Given the description of an element on the screen output the (x, y) to click on. 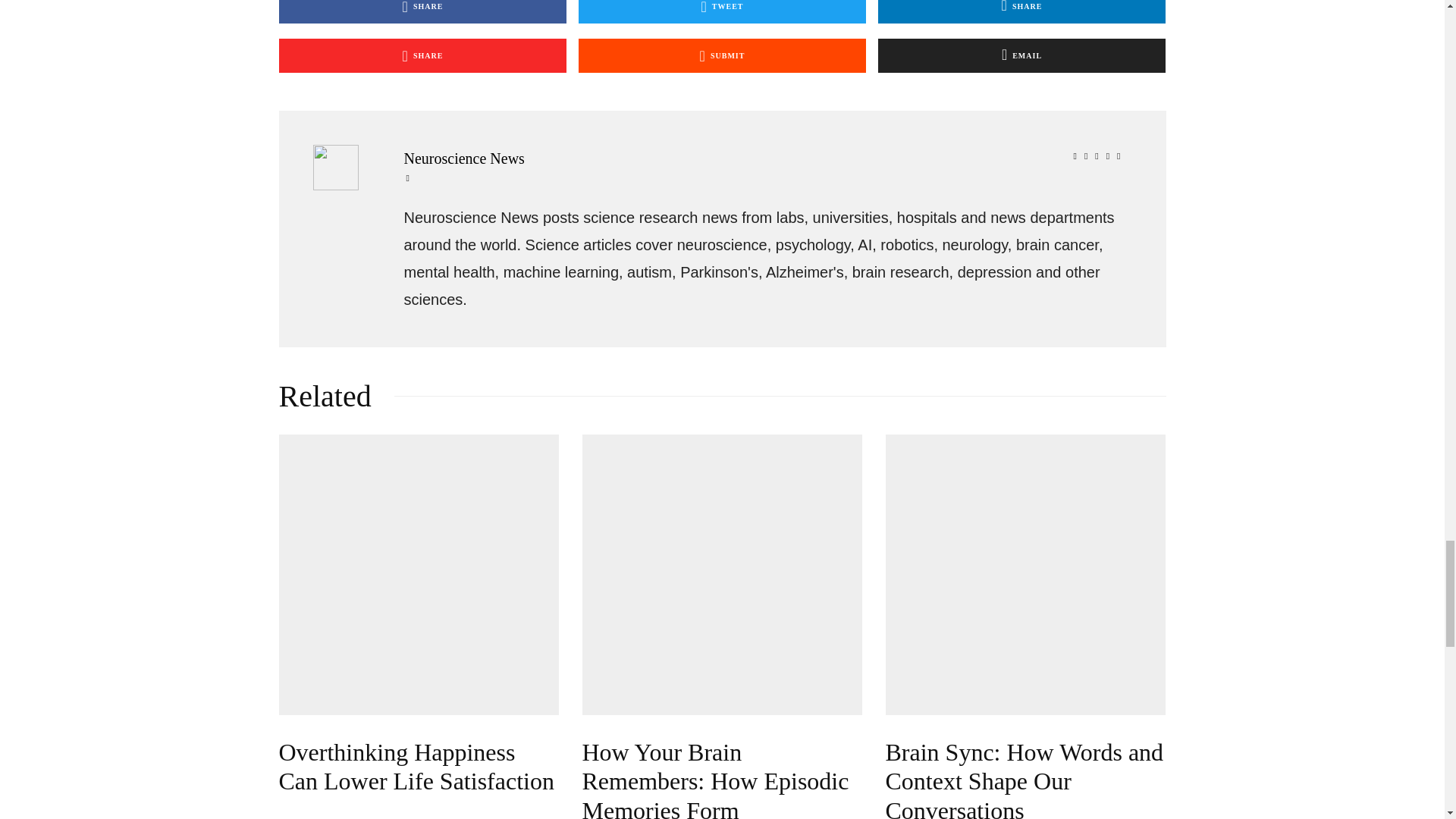
SHARE (1021, 11)
TWEET (722, 11)
SHARE (423, 11)
